Given the description of an element on the screen output the (x, y) to click on. 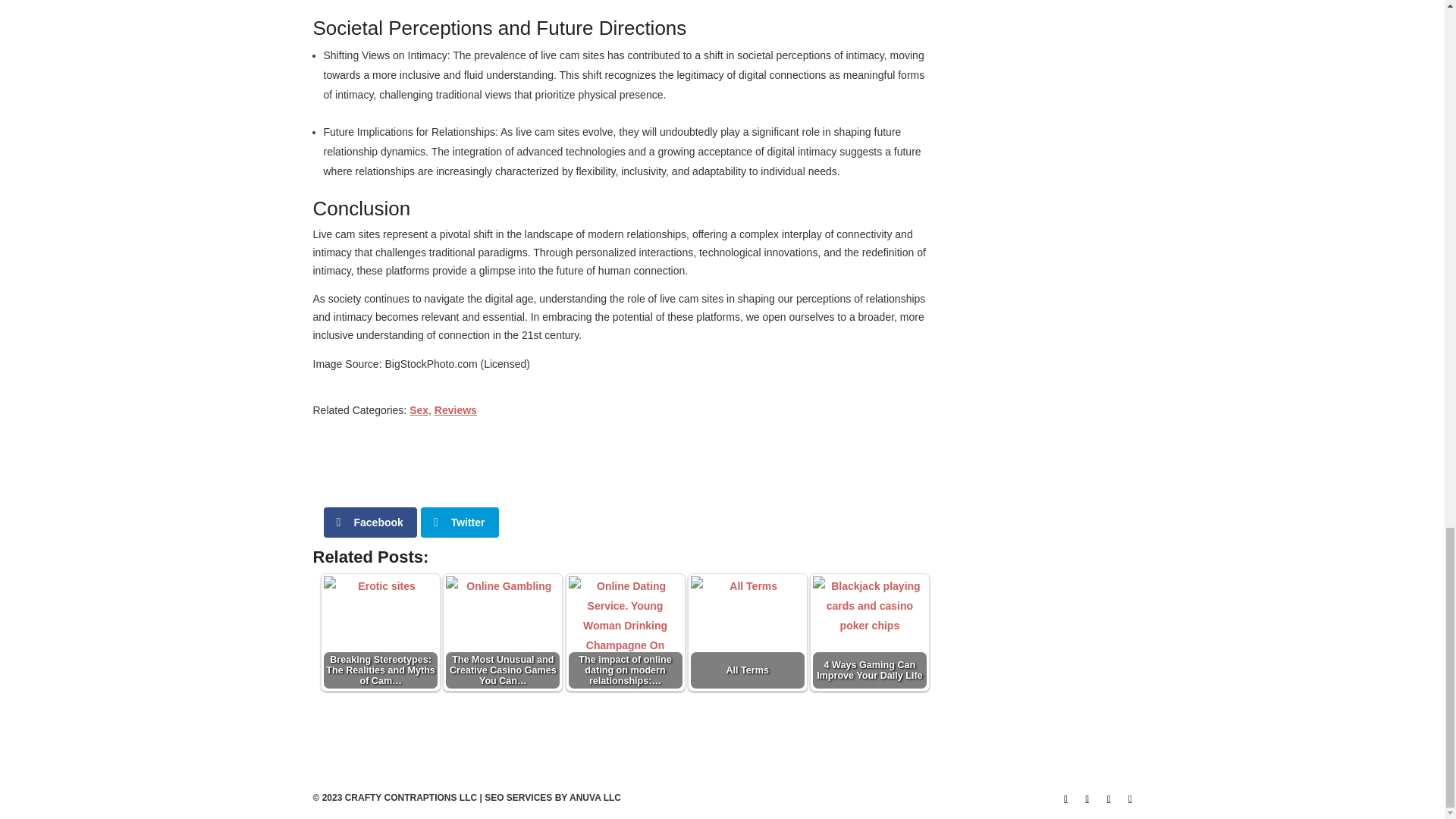
Facebook (369, 521)
All Terms (747, 633)
Twitter (459, 521)
SEO SERVICES (517, 797)
4 Ways Gaming Can Improve Your Daily Life (869, 632)
Reviews (455, 410)
Sex (418, 410)
4 Ways Gaming Can Improve Your Daily Life (869, 633)
